Given the description of an element on the screen output the (x, y) to click on. 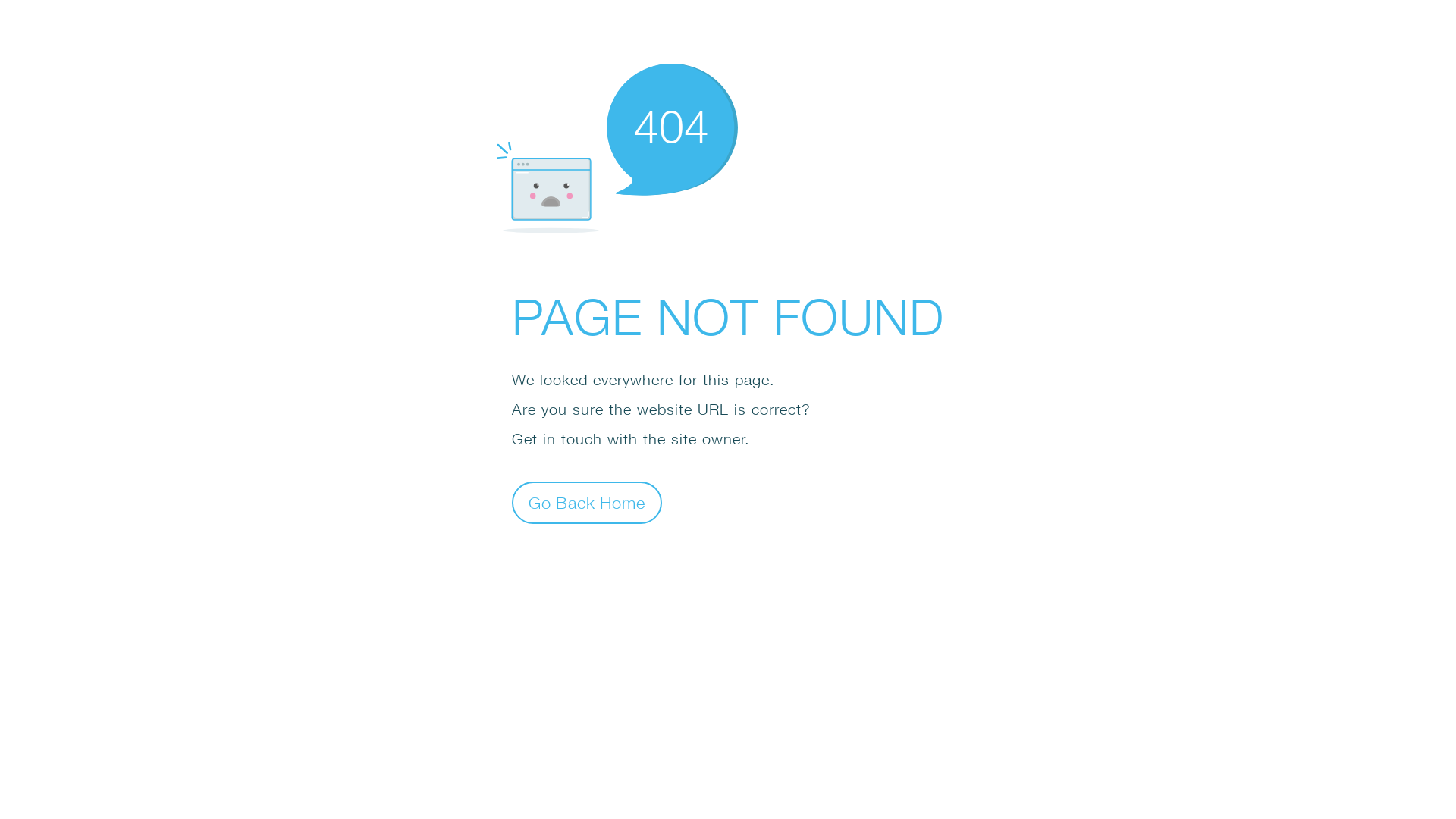
Go Back Home Element type: text (586, 502)
